Given the description of an element on the screen output the (x, y) to click on. 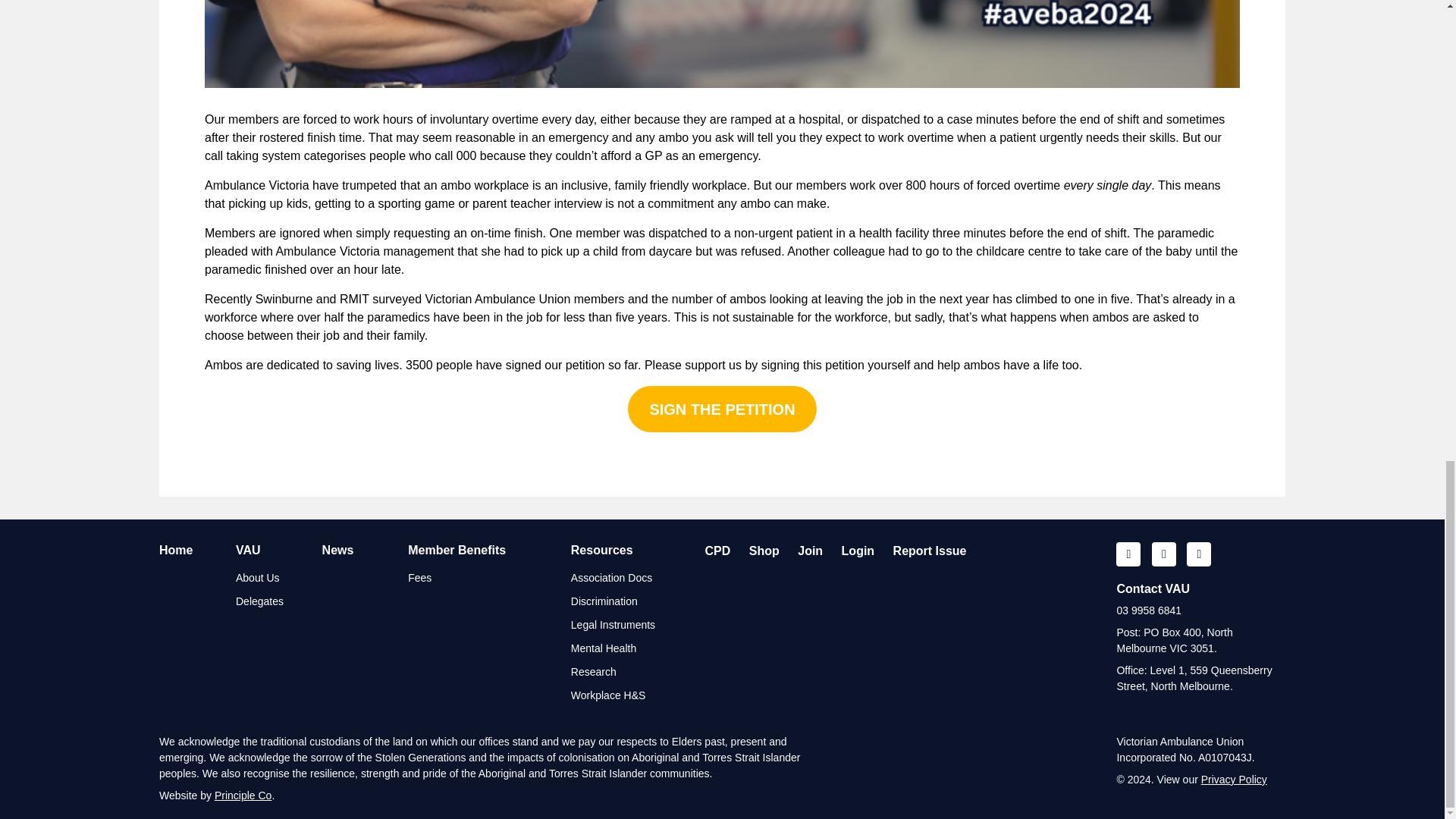
Legal Instruments (612, 624)
About Us (257, 577)
Delegates (259, 601)
CPD (717, 550)
Report Issue (929, 550)
News (337, 549)
Login (858, 550)
Member Benefits (456, 549)
Fees (418, 577)
Research (592, 671)
Discrimination (603, 601)
Home (175, 549)
Association Docs (611, 577)
VAU (247, 549)
Resources (601, 549)
